Given the description of an element on the screen output the (x, y) to click on. 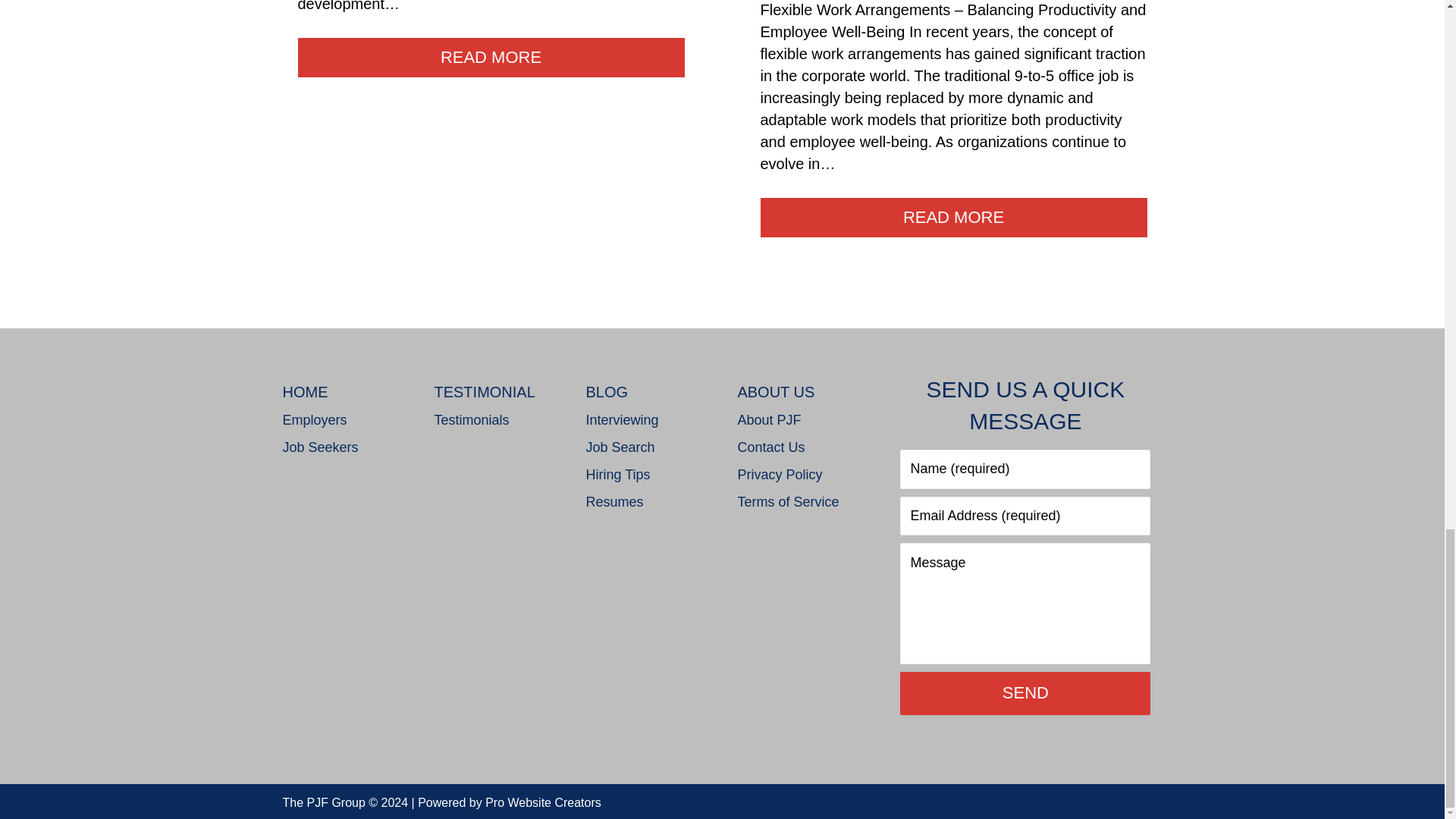
SEND (1024, 692)
Read More (953, 217)
Read More (490, 56)
READ MORE (490, 56)
